Given the description of an element on the screen output the (x, y) to click on. 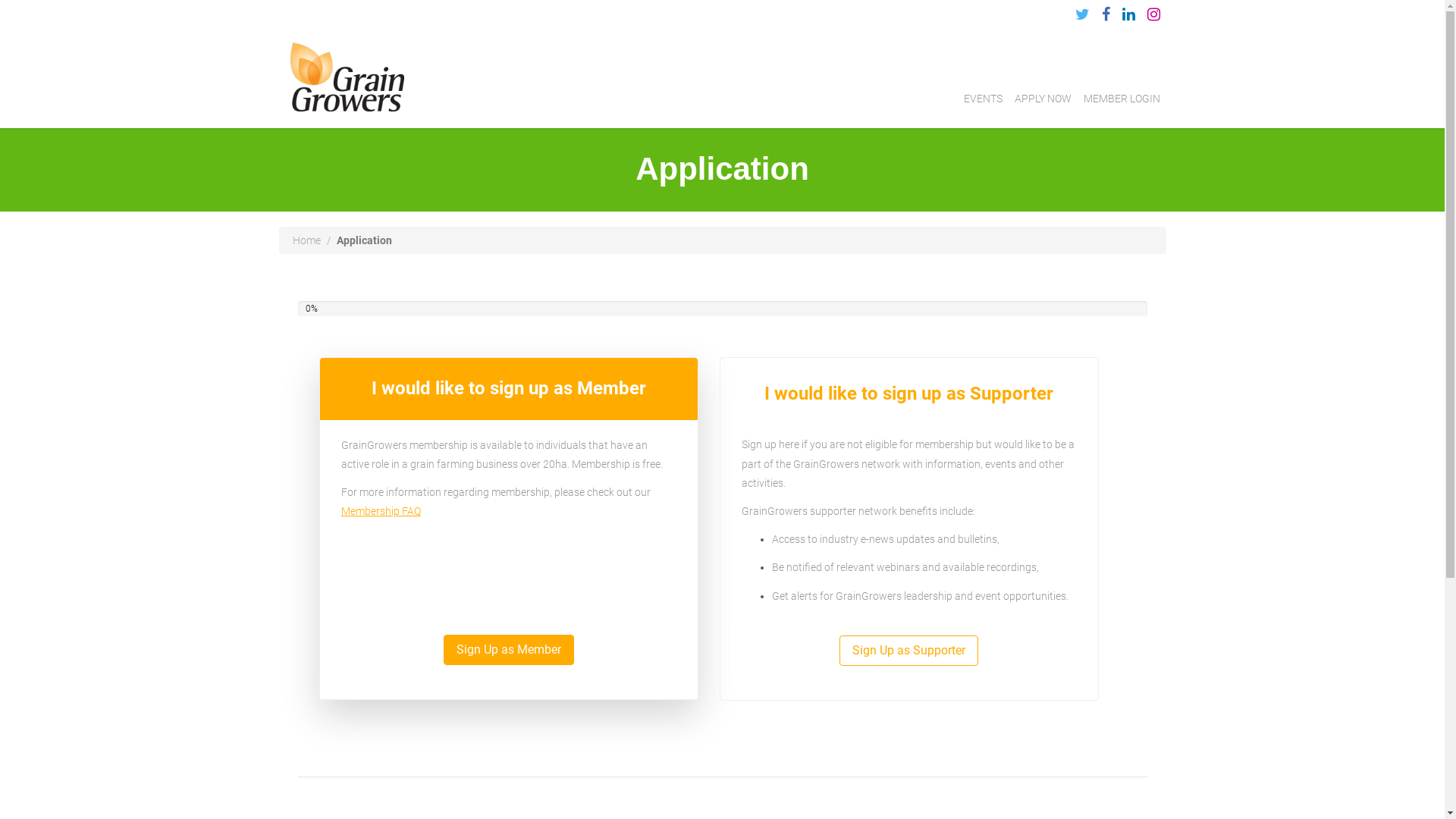
EVENTS Element type: text (982, 99)
Sign Up as Supporter Element type: text (908, 650)
Sign Up as Member Element type: text (508, 649)
Membership FAQ Element type: text (380, 511)
APPLY NOW Element type: text (1042, 99)
MEMBER LOGIN Element type: text (1120, 99)
GrainGrowersPortal Element type: hover (346, 74)
Home Element type: text (306, 240)
